Given the description of an element on the screen output the (x, y) to click on. 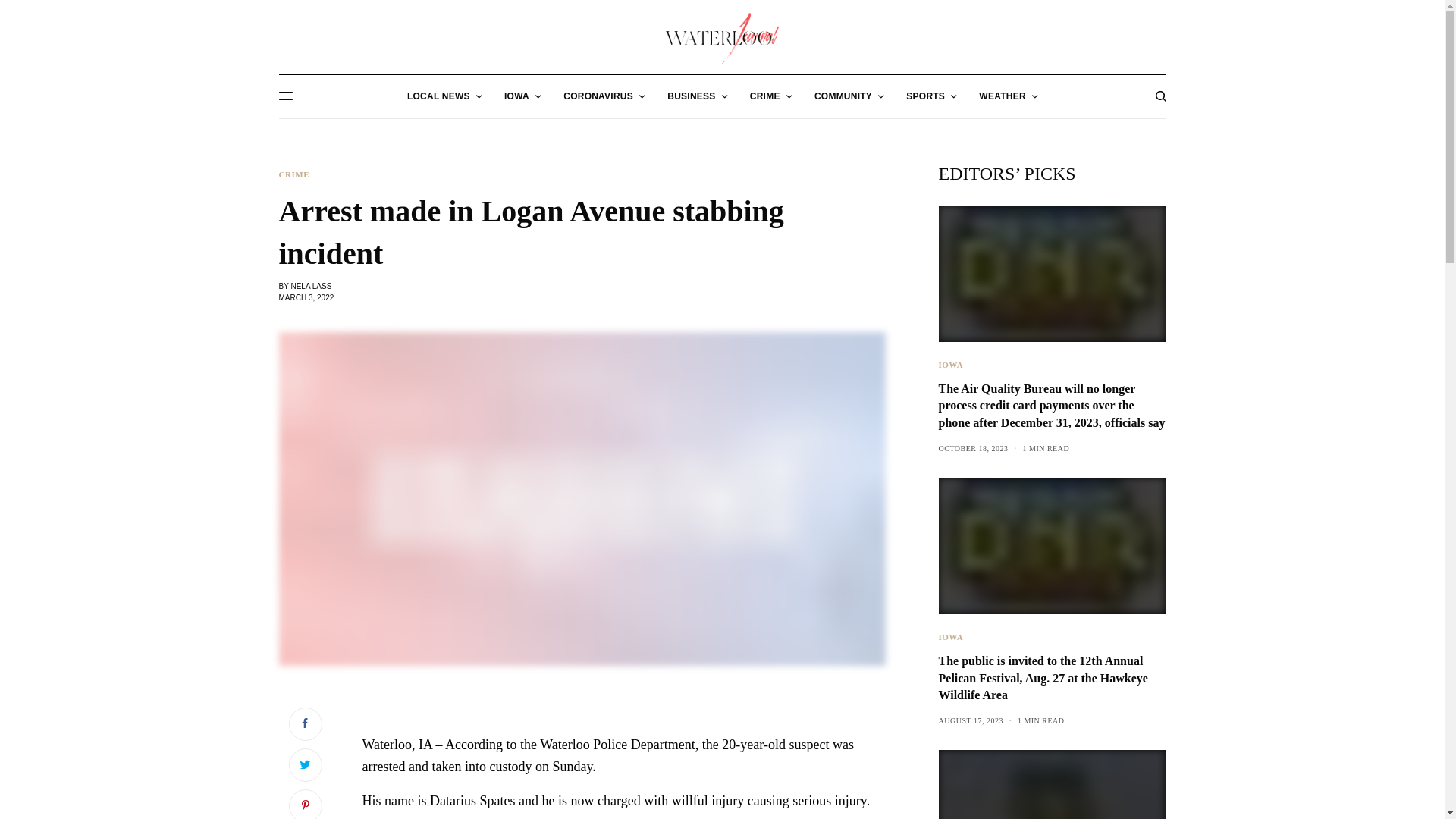
SPORTS (930, 95)
BUSINESS (696, 95)
WEATHER (1007, 95)
CORONAVIRUS (604, 95)
Waterloo Journal (721, 38)
LOCAL NEWS (444, 95)
CRIME (770, 95)
COMMUNITY (848, 95)
